Given the description of an element on the screen output the (x, y) to click on. 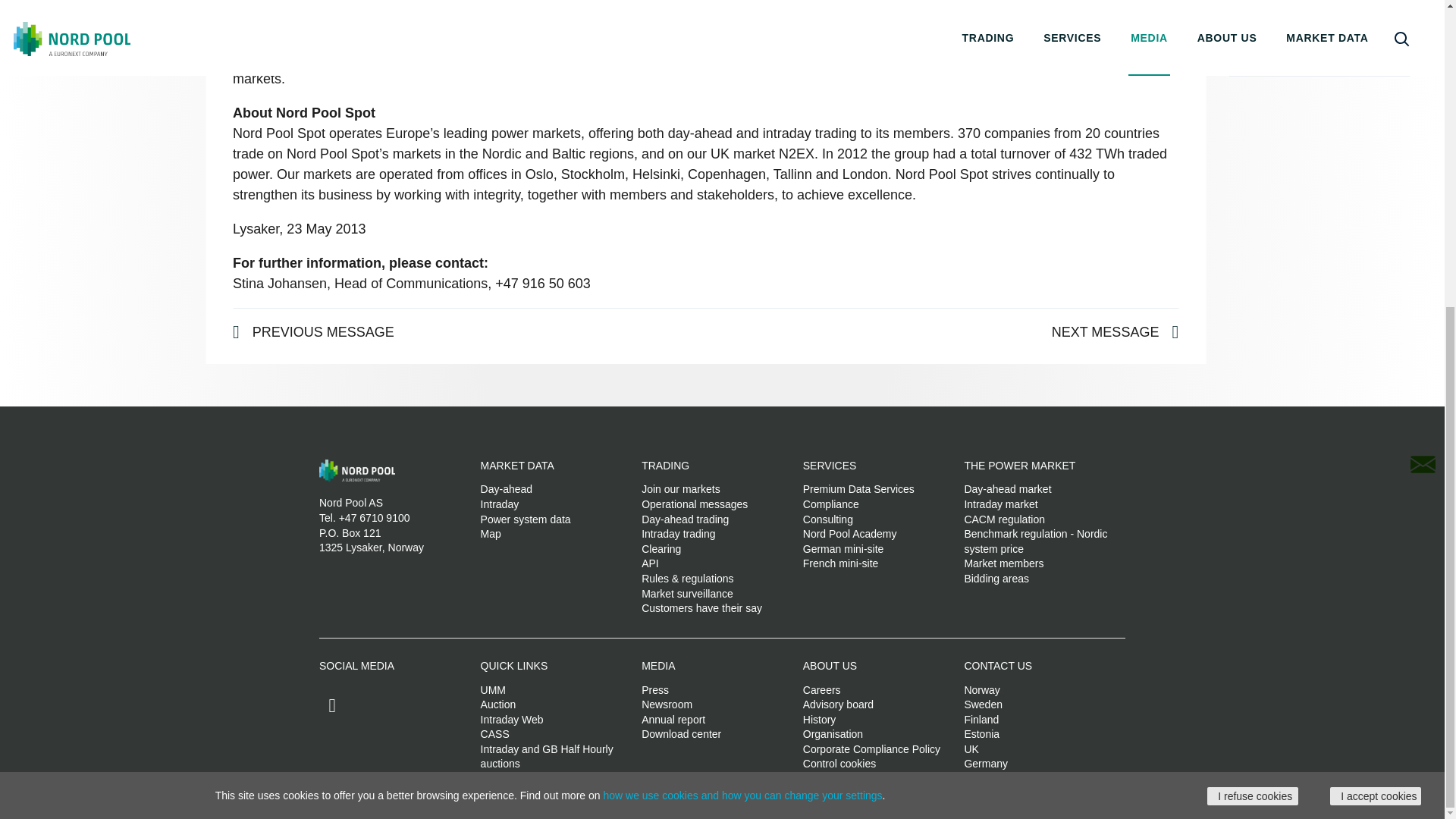
Clearing (661, 548)
Market surveillance (687, 593)
Power system data (525, 519)
Day-ahead trading (685, 519)
Nord Pool Academy (849, 533)
Intraday trading (678, 533)
I accept cookies (1375, 312)
I refuse cookies (1252, 312)
how we use cookies and how you can change your settings (742, 311)
Map (490, 533)
